Given the description of an element on the screen output the (x, y) to click on. 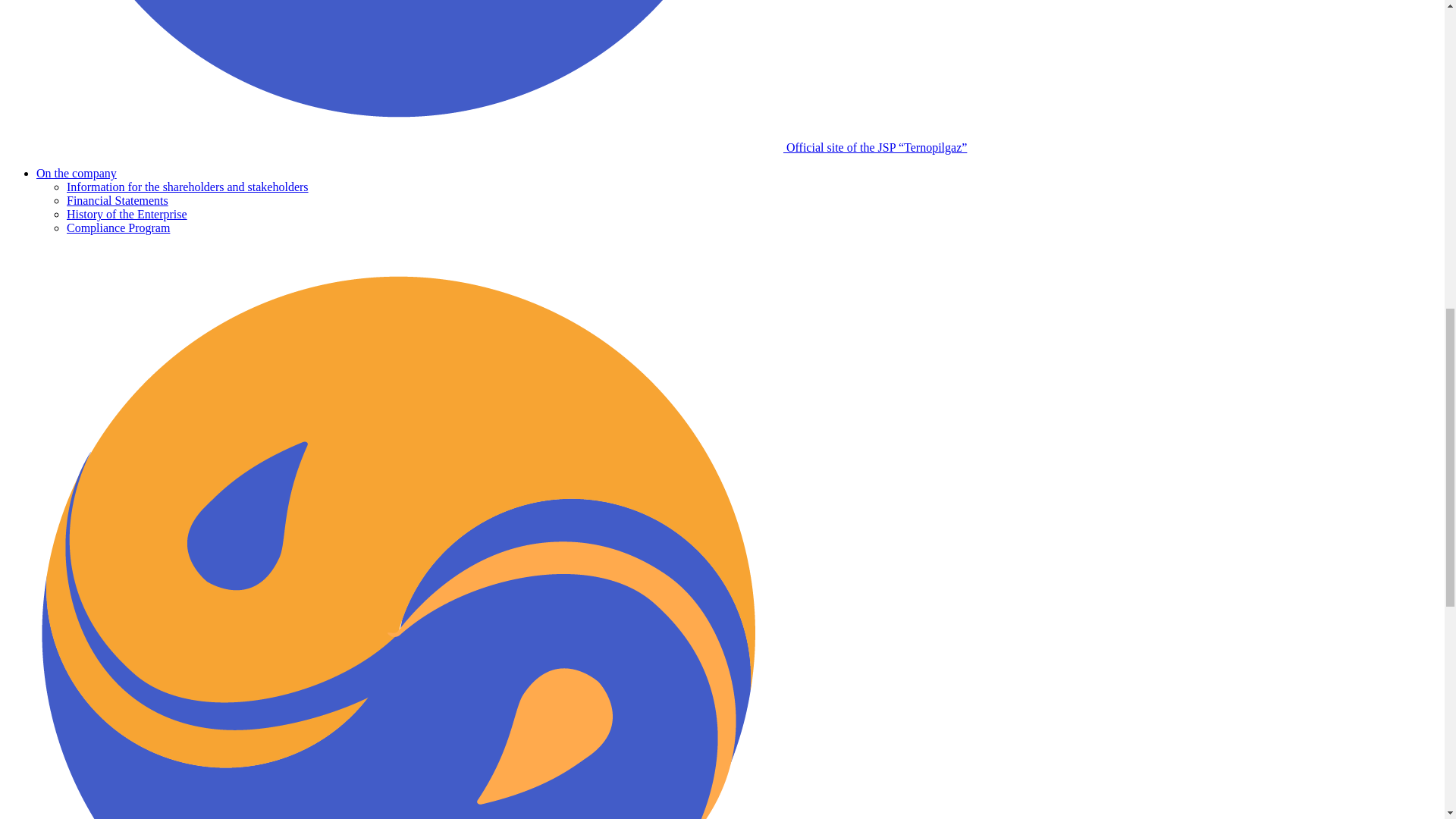
Compliance Program (118, 227)
History of the Enterprise (126, 214)
Financial Statements (117, 200)
Information for the shareholders and stakeholders (187, 186)
On the company (76, 173)
